Given the description of an element on the screen output the (x, y) to click on. 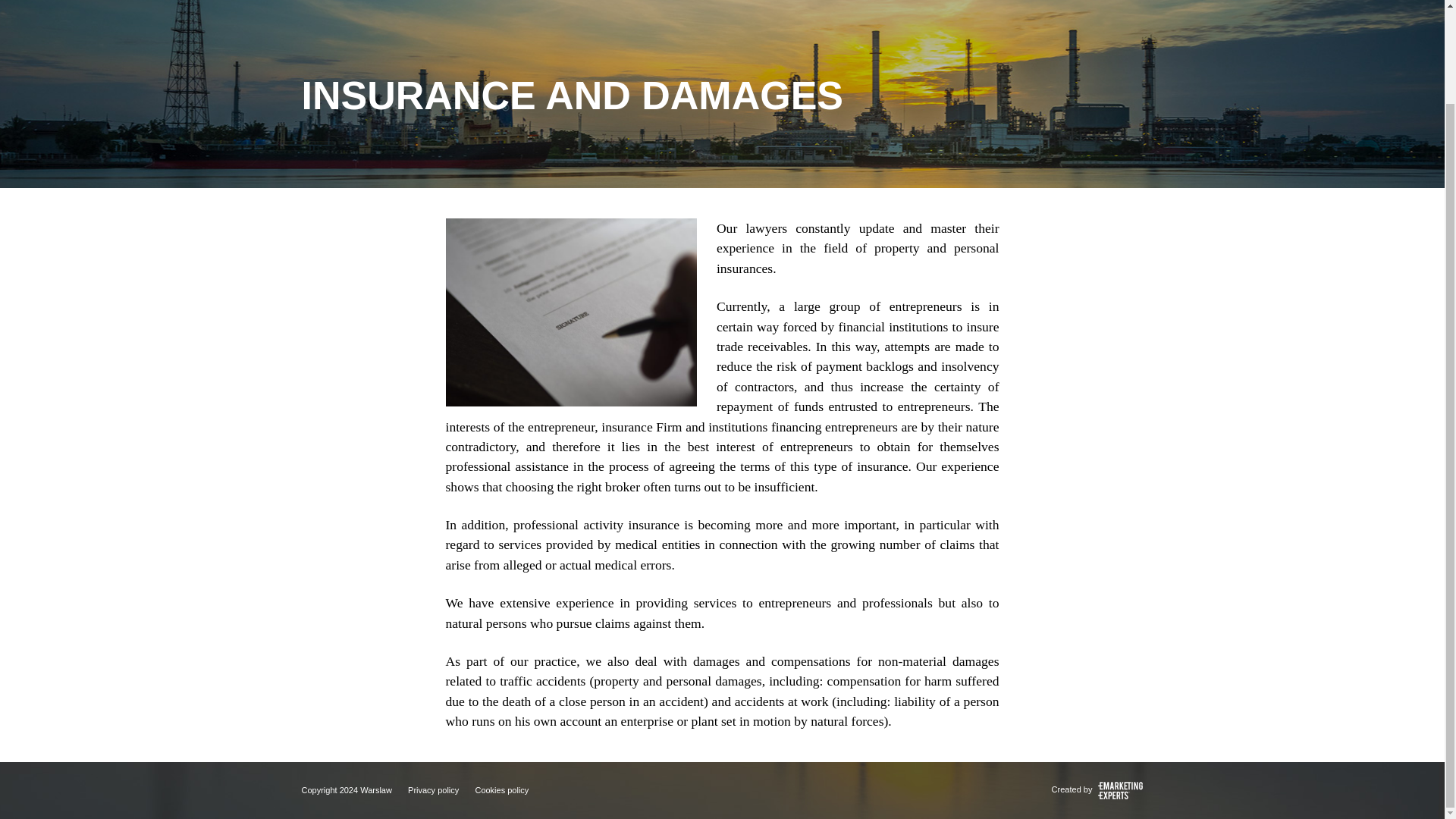
Privacy policy (432, 789)
Privacy policy (432, 789)
Cookies policy (501, 789)
Cookies policy (501, 789)
Warslaw (375, 789)
Emarketing Experts - Agencja interaktywna (1118, 788)
